Given the description of an element on the screen output the (x, y) to click on. 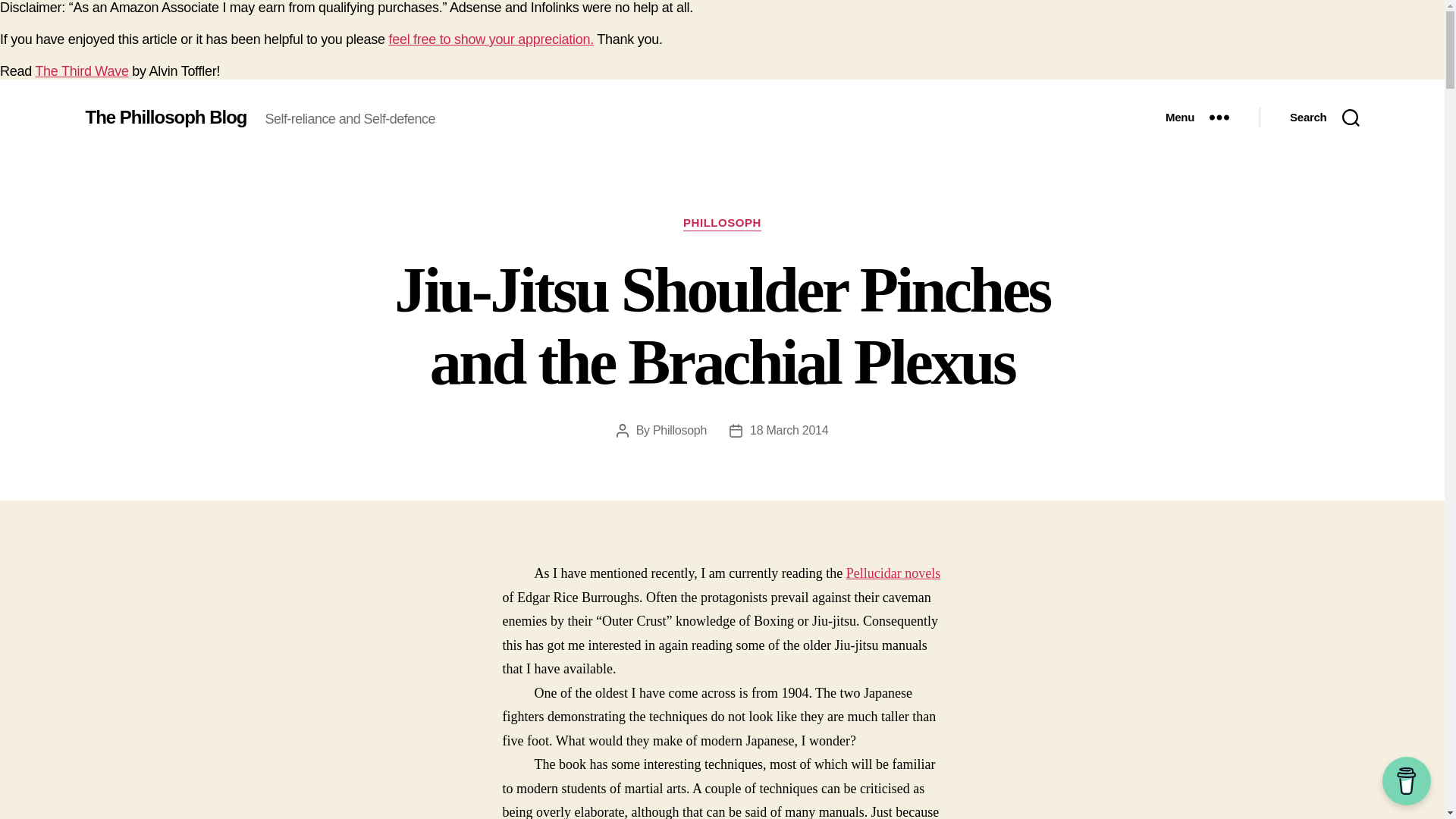
Menu (1197, 117)
The Phillosoph Blog (165, 116)
Search (1324, 117)
feel free to show your appreciation. (490, 38)
The Third Wave (81, 70)
